Given the description of an element on the screen output the (x, y) to click on. 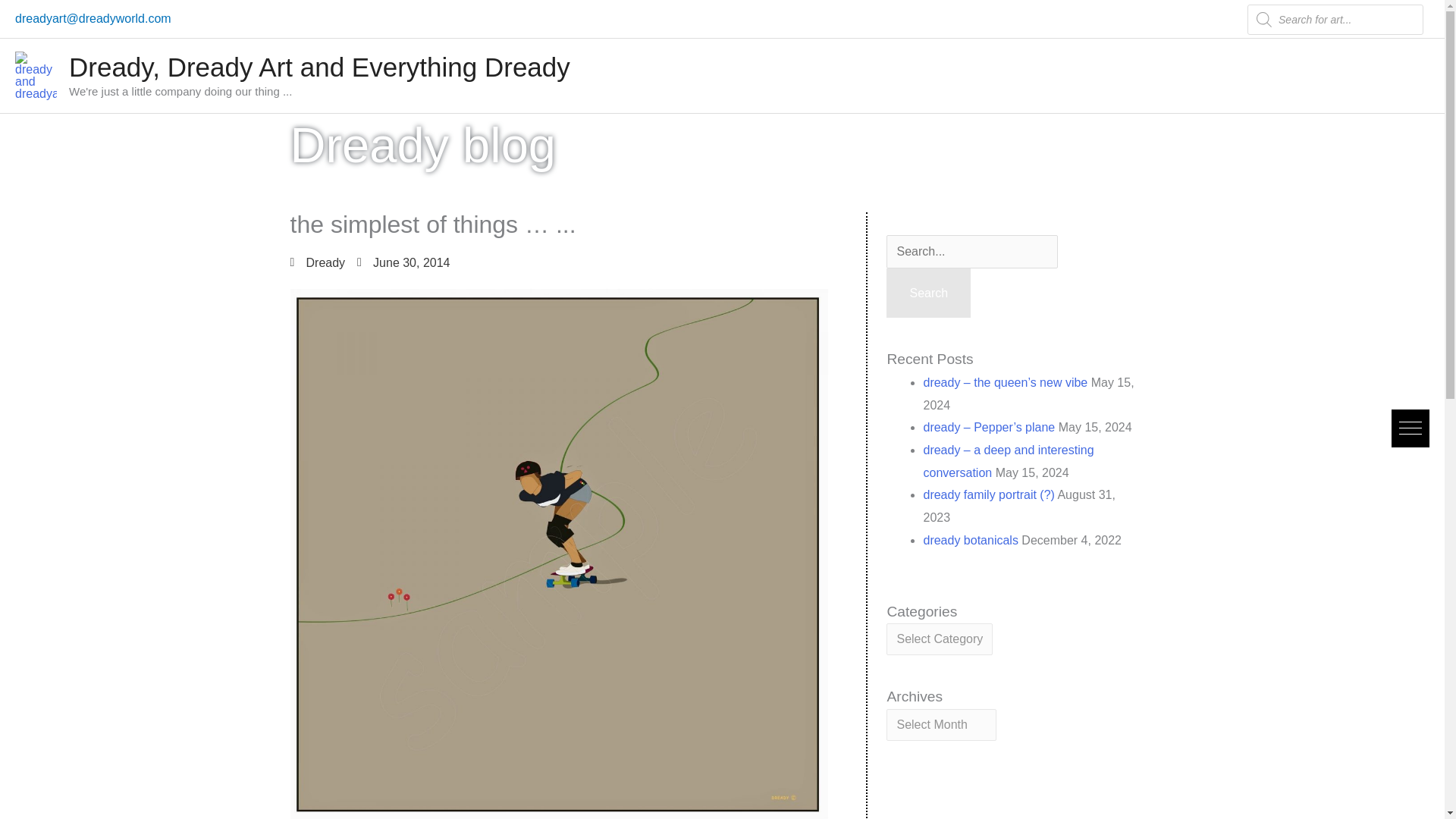
June 30, 2014 (402, 262)
Search (928, 293)
dready botanicals (970, 540)
Search (928, 293)
Search (928, 293)
Dready blog (422, 144)
Dready, Dready Art and Everything Dready (319, 66)
Dready (317, 262)
